Given the description of an element on the screen output the (x, y) to click on. 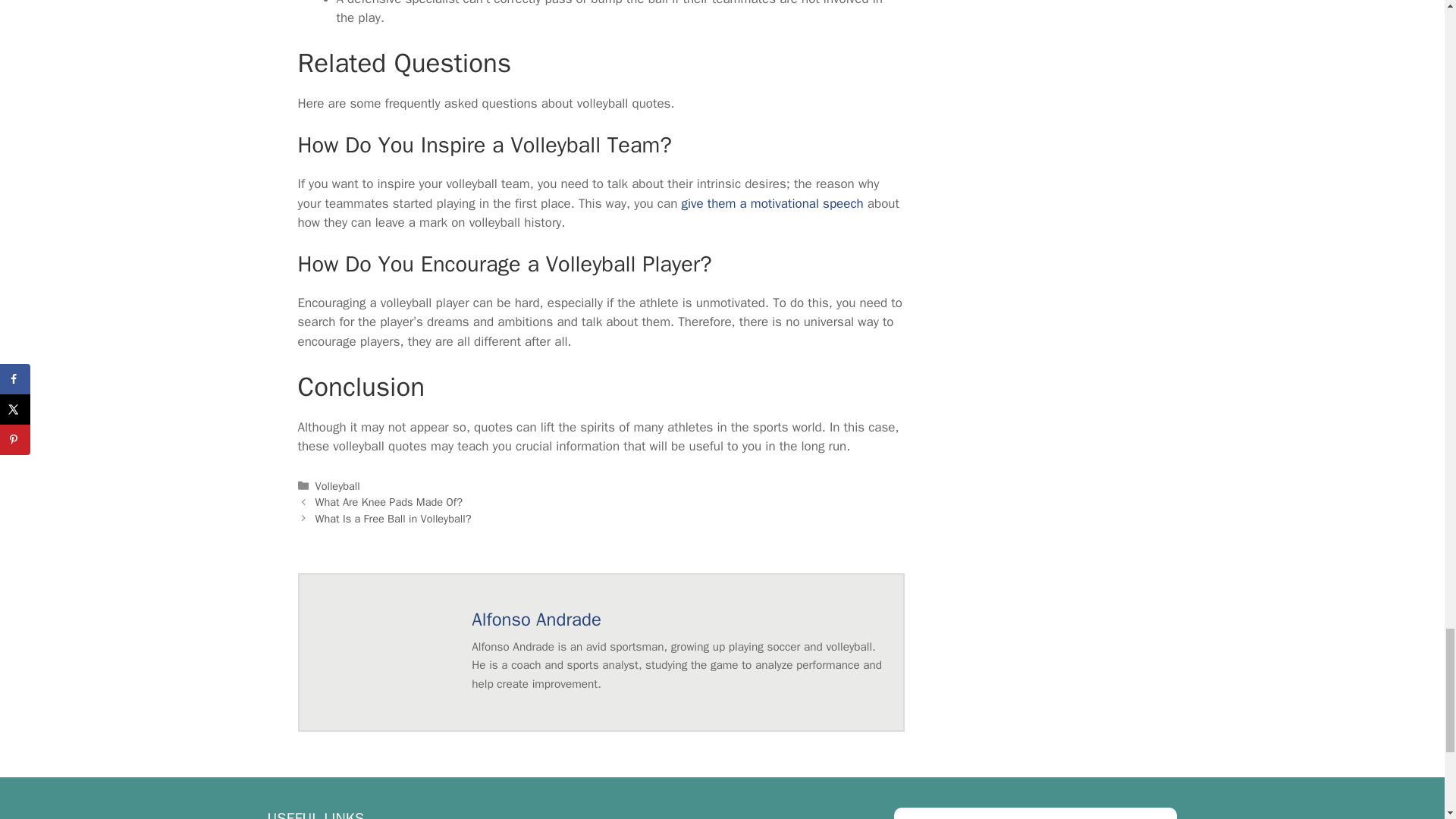
Volleyball (337, 486)
What Are Knee Pads Made Of? (389, 501)
Author Links (536, 619)
give them a motivational speech (772, 203)
